Given the description of an element on the screen output the (x, y) to click on. 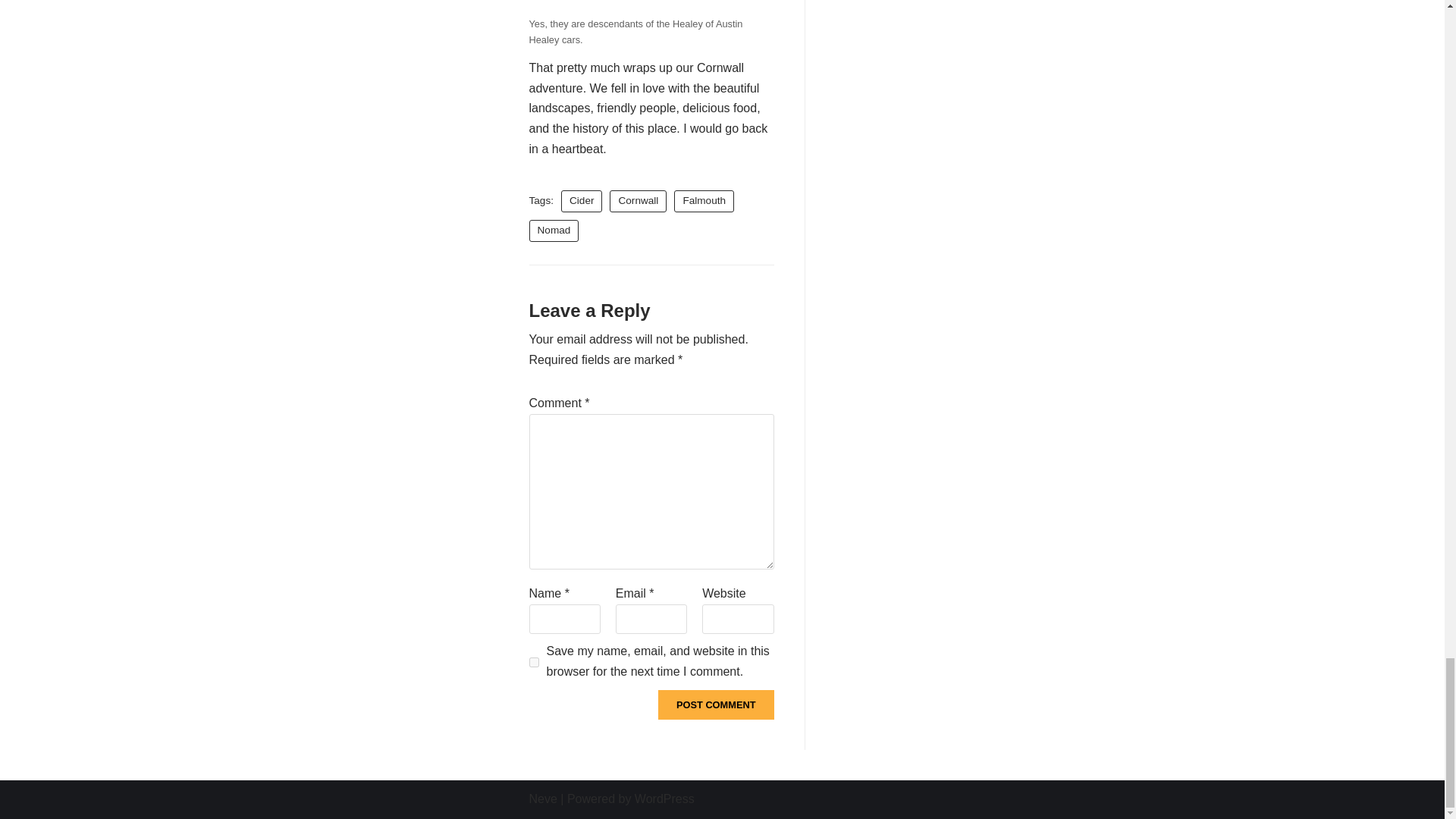
Neve (543, 798)
Nomad (554, 230)
Cider (581, 201)
Cornwall (638, 201)
yes (533, 662)
WordPress (664, 798)
Falmouth (703, 201)
Falmouth (703, 201)
Cornwall (638, 201)
Cider (581, 201)
